Given the description of an element on the screen output the (x, y) to click on. 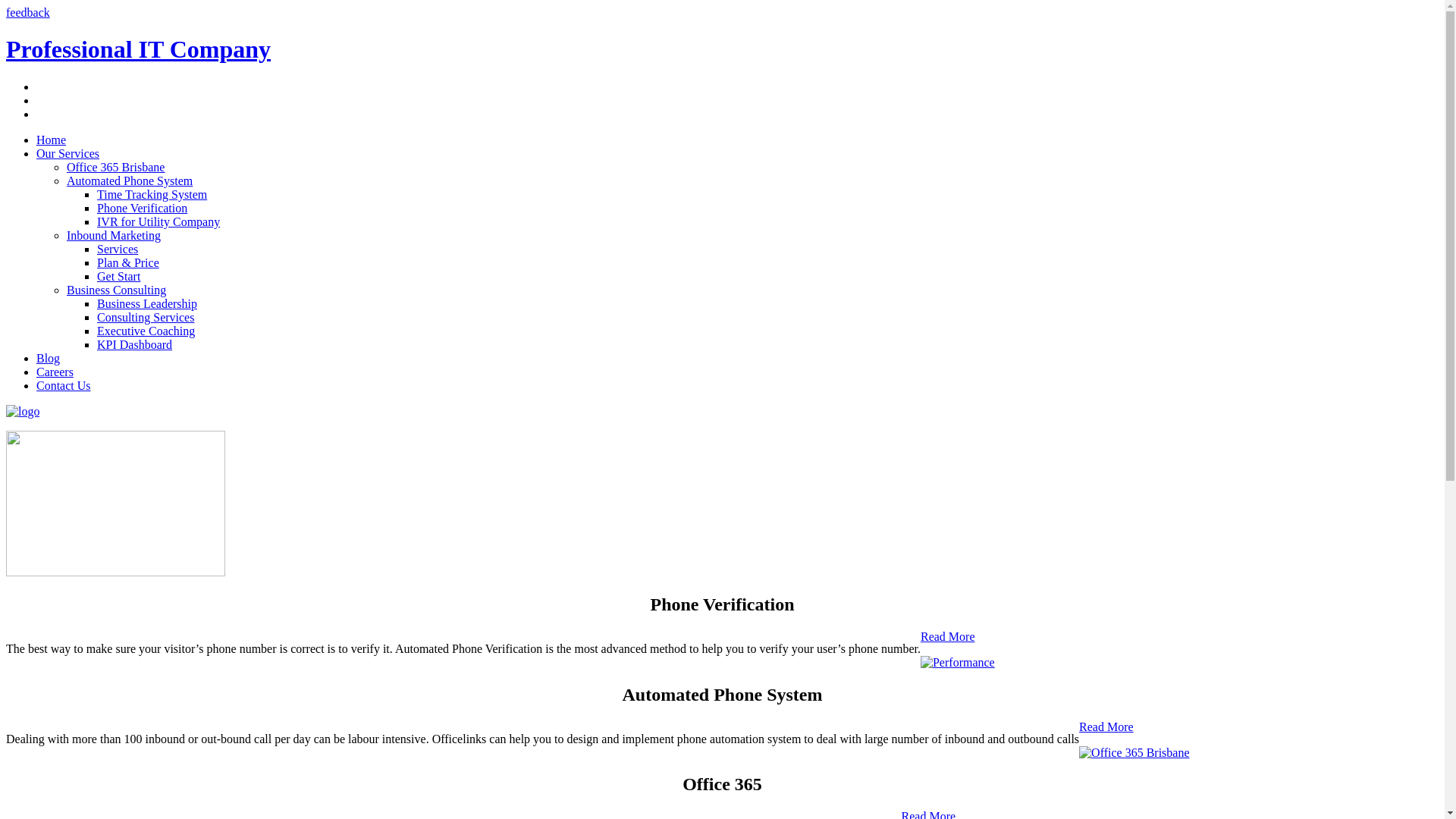
Consulting Services Element type: text (145, 316)
Business Leadership Element type: text (147, 303)
Professional IT Company Element type: text (138, 48)
Home Element type: text (50, 139)
Read More Element type: text (947, 636)
Automated Phone System Element type: text (129, 180)
Time Tracking System Element type: text (152, 194)
Blog Element type: text (47, 357)
Office 365 Brisbane Element type: text (115, 166)
Executive Coaching Element type: text (145, 330)
Inbound Marketing Element type: text (113, 235)
Read More Element type: text (1106, 726)
feedback Element type: text (28, 12)
Business Consulting Element type: text (116, 289)
Careers Element type: text (54, 371)
Get Start Element type: text (118, 275)
Our Services Element type: text (67, 153)
KPI Dashboard Element type: text (134, 344)
Plan & Price Element type: text (128, 262)
Services Element type: text (117, 248)
Contact Us Element type: text (63, 385)
Professional IT Company Element type: hover (22, 410)
Phone Verification Element type: text (142, 207)
IVR for Utility Company Element type: text (158, 221)
